Given the description of an element on the screen output the (x, y) to click on. 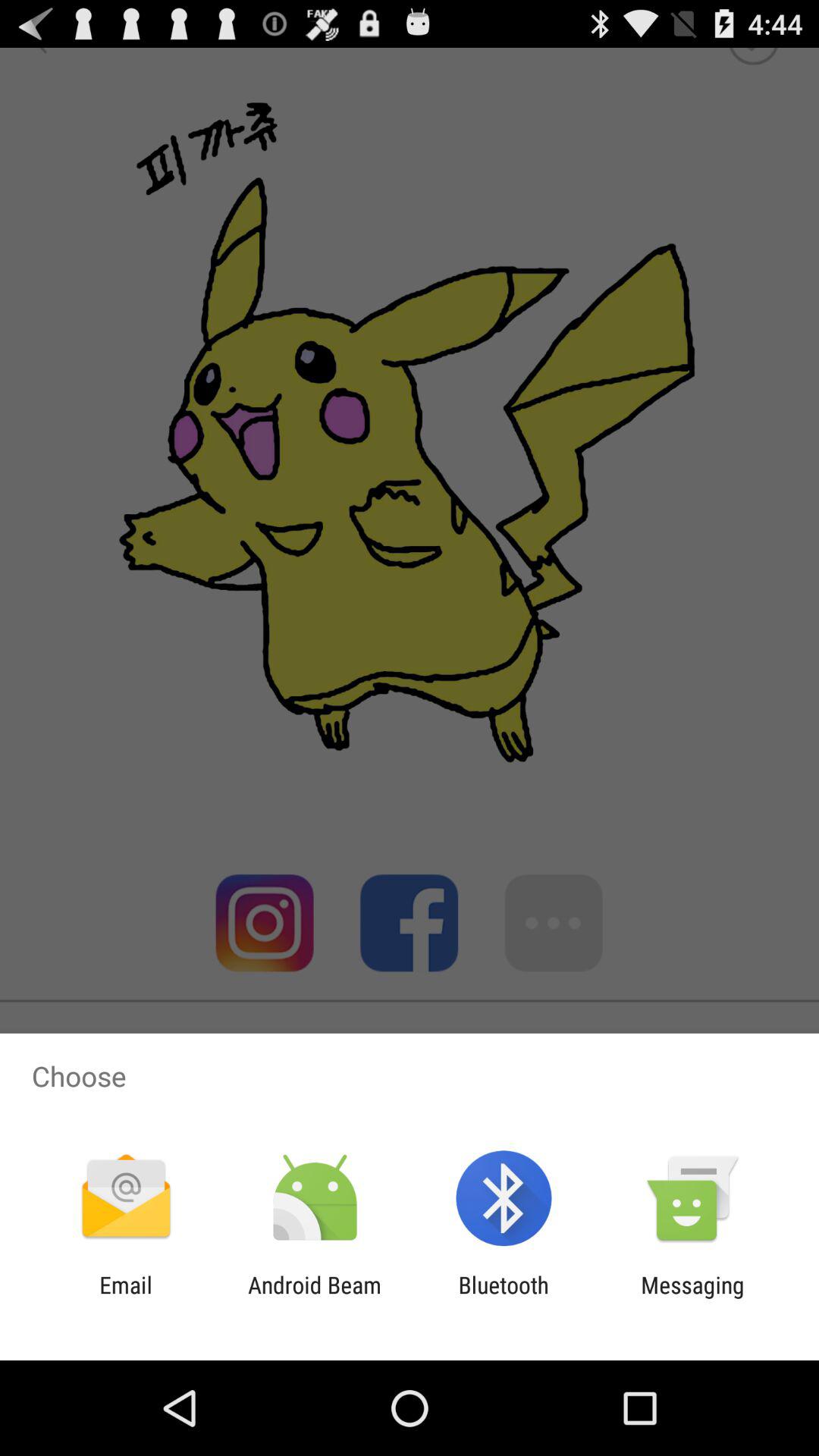
select icon to the right of android beam (503, 1298)
